Given the description of an element on the screen output the (x, y) to click on. 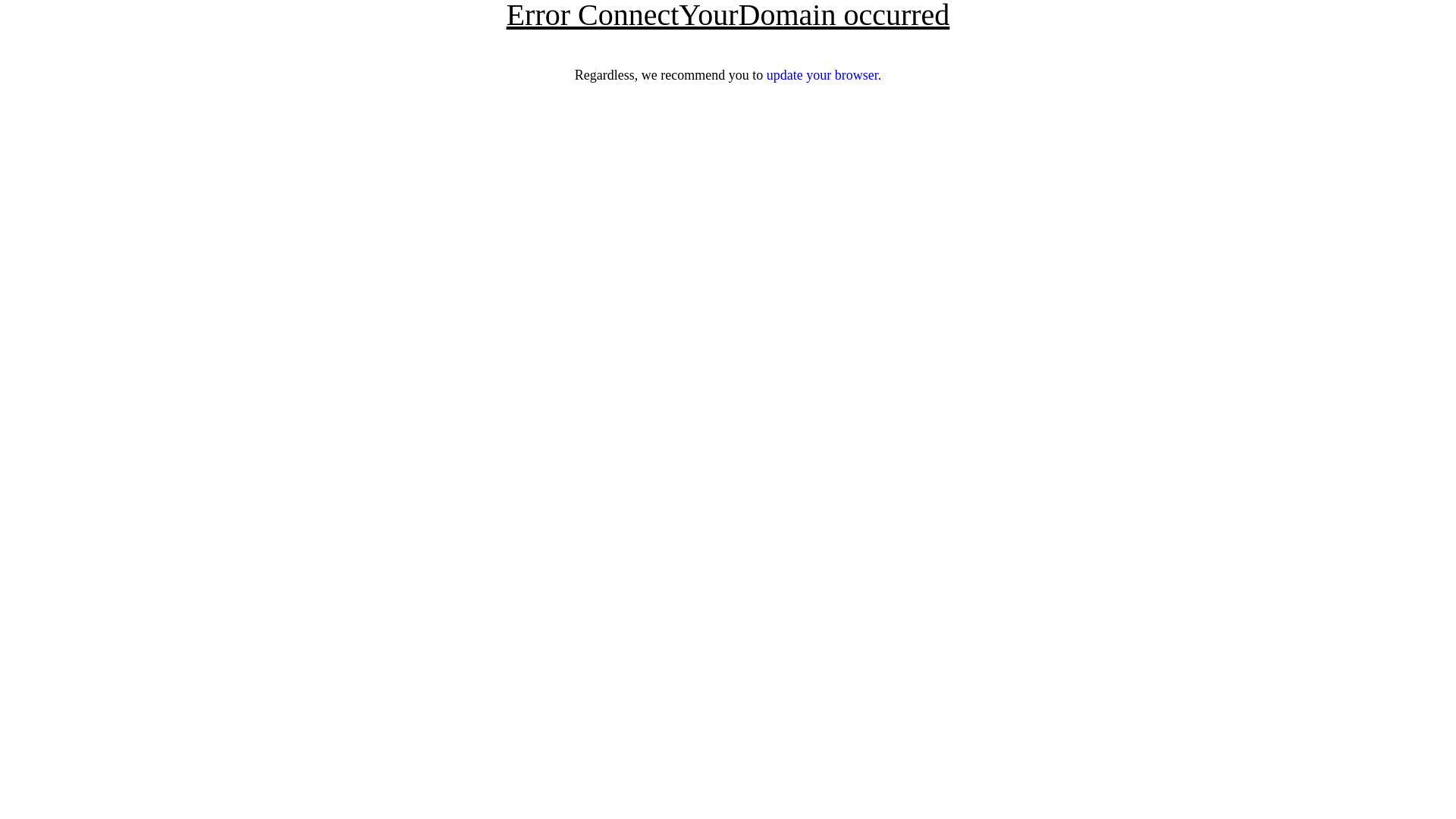
update your browser. Element type: text (823, 74)
